Given the description of an element on the screen output the (x, y) to click on. 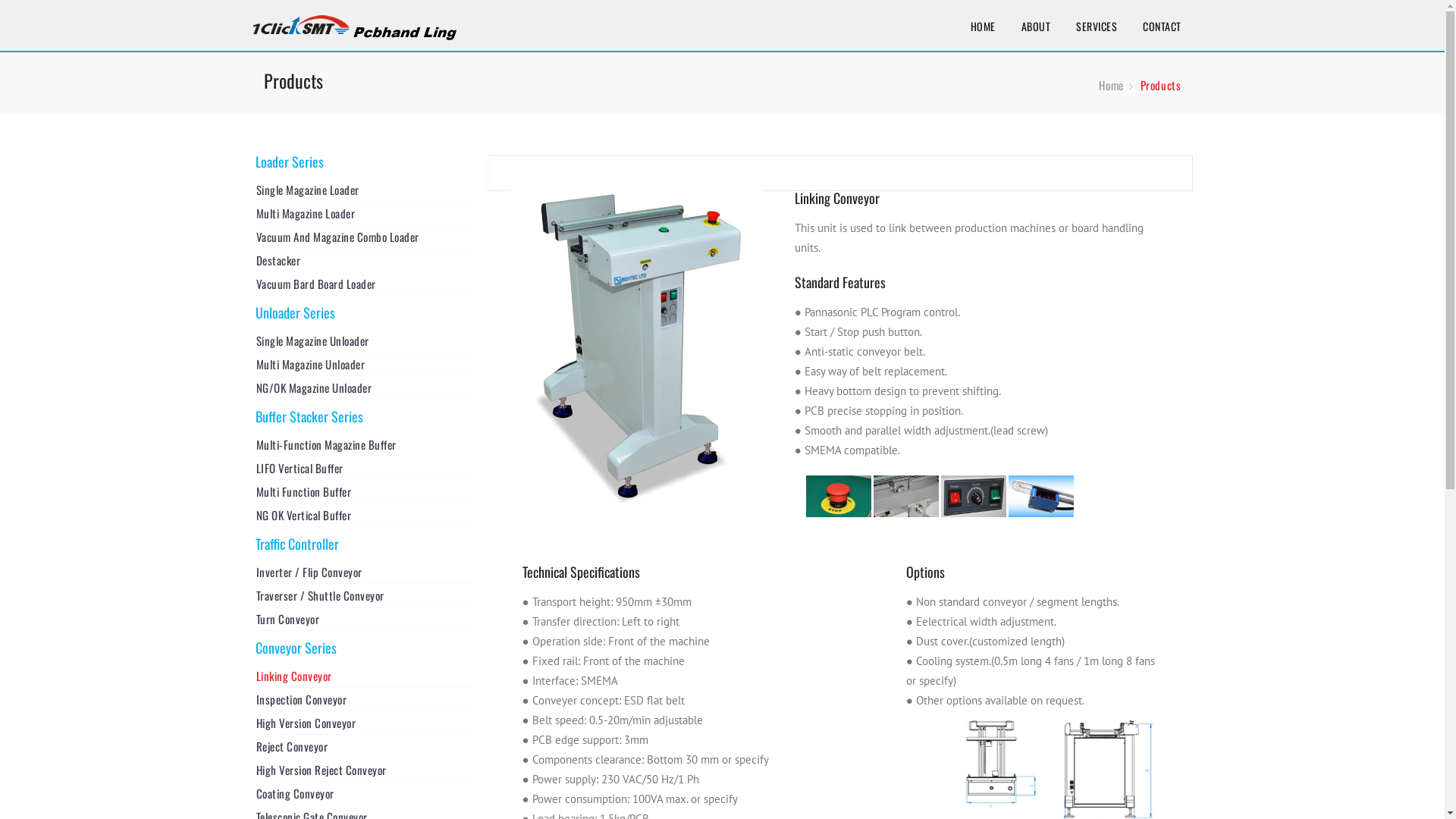
High Version Reject Conveyor Element type: text (363, 769)
Reject Conveyor Element type: text (363, 745)
NG/OK Magazine Unloader Element type: text (363, 387)
Turn Conveyor Element type: text (363, 618)
Linking Conveyor Element type: text (363, 675)
LIFO Vertical Buffer Element type: text (363, 467)
Multi Magazine Loader Element type: text (363, 212)
Home Element type: text (1110, 84)
Single Magazine Unloader Element type: text (363, 340)
Inverter / Flip Conveyor Element type: text (363, 571)
ABOUT Element type: text (1036, 26)
Google Plus Element type: hover (326, 18)
Vacuum Bard Board Loader Element type: text (363, 283)
Inspection Conveyor Element type: text (363, 698)
Traverser / Shuttle Conveyor Element type: text (363, 594)
High Version Conveyor Element type: text (363, 722)
Linkedin Element type: hover (352, 18)
SERVICES Element type: text (1096, 26)
Pinterest Element type: hover (403, 18)
Facebook Element type: hover (274, 18)
Coating Conveyor Element type: text (363, 792)
CONTACT Element type: text (1161, 26)
HOME Element type: text (982, 26)
NG OK Vertical Buffer Element type: text (363, 514)
Youtube Element type: hover (378, 18)
Destacker Element type: text (363, 259)
Multi Magazine Unloader Element type: text (363, 363)
Multi-Function Magazine Buffer Element type: text (363, 444)
Multi Function Buffer Element type: text (363, 491)
Twitter Element type: hover (300, 18)
Vacuum And Magazine Combo Loader Element type: text (363, 236)
Single Magazine Loader Element type: text (363, 189)
